Given the description of an element on the screen output the (x, y) to click on. 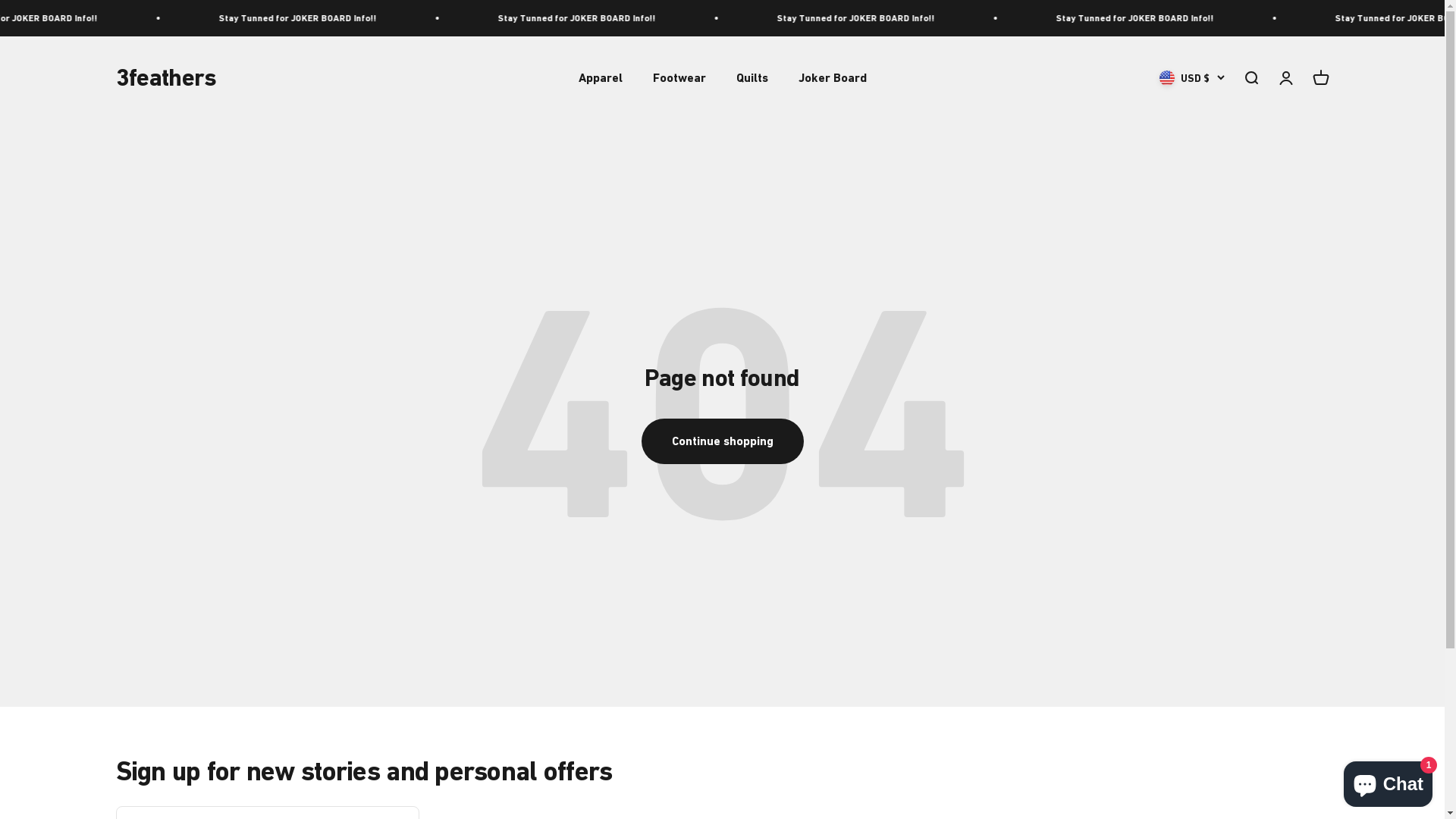
Continue shopping Element type: text (722, 441)
Open search Element type: text (1250, 77)
Shopify online store chat Element type: hover (1388, 780)
3feathers Element type: text (165, 78)
USD $ Element type: text (1190, 77)
Apparel Element type: text (599, 77)
Open cart
0 Element type: text (1319, 77)
Open account page Element type: text (1285, 77)
Quilts Element type: text (751, 77)
Footwear Element type: text (678, 77)
Joker Board Element type: text (831, 77)
